Given the description of an element on the screen output the (x, y) to click on. 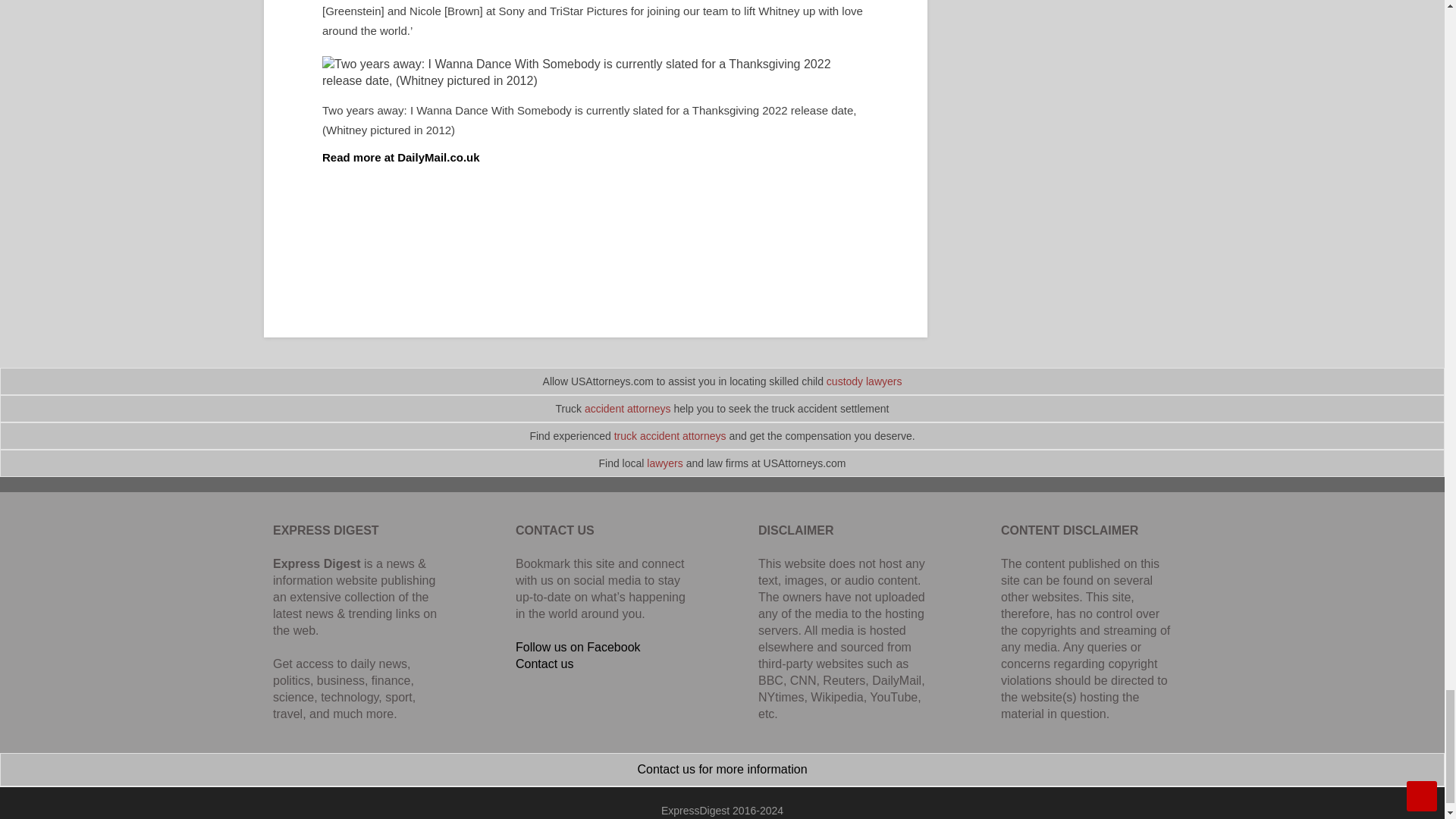
truck accident attorneys (670, 435)
Read more at DailyMail.co.uk (400, 156)
custody lawyers (864, 381)
accident attorneys (628, 408)
lawyers (664, 463)
